Given the description of an element on the screen output the (x, y) to click on. 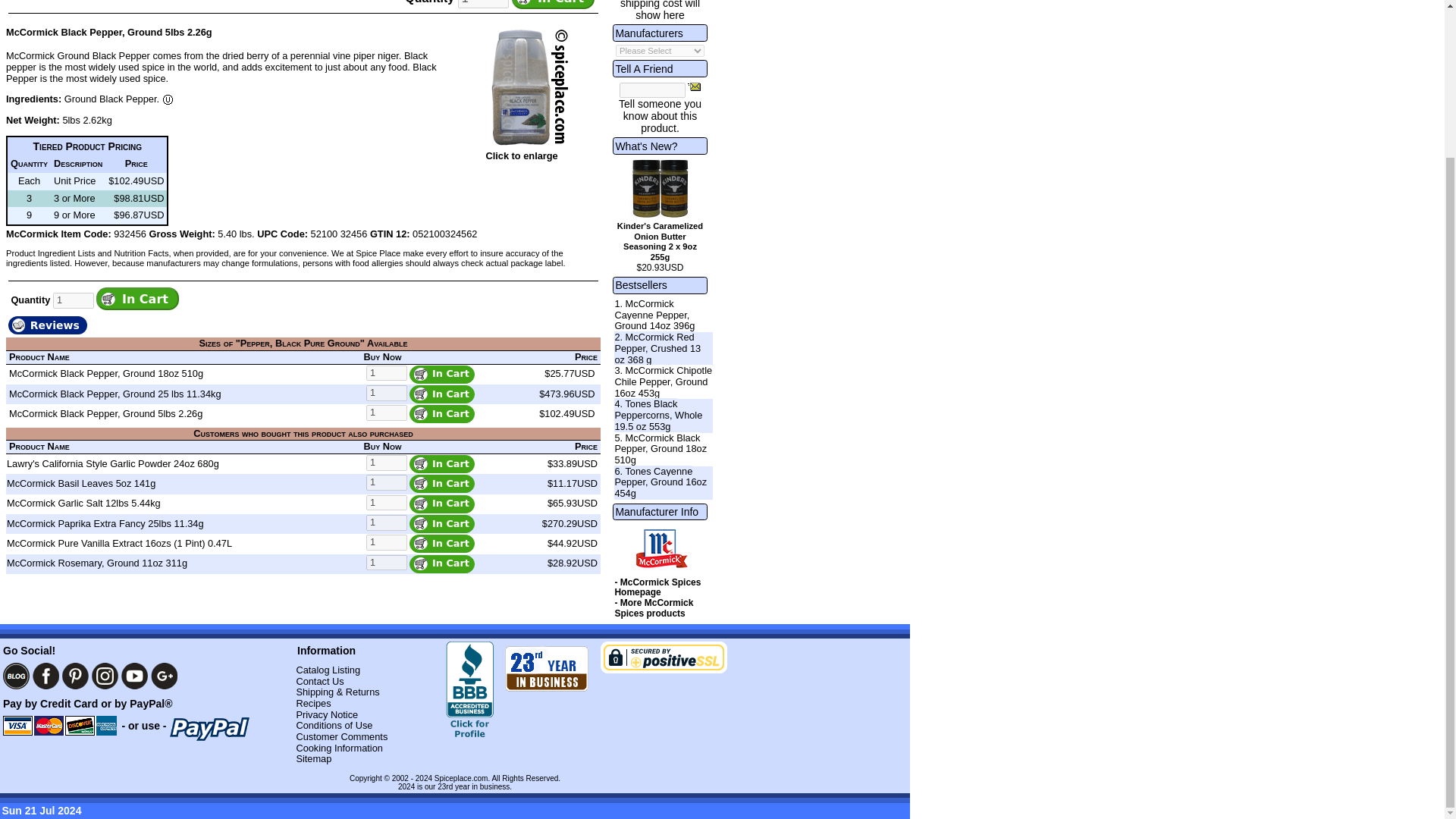
In Cart (441, 524)
In Cart (553, 4)
1 (73, 300)
In Cart (137, 298)
1 (386, 503)
1 (386, 462)
McCormick Black Pepper, Ground 18oz 510g (105, 373)
Click to enlarge (520, 155)
In Cart (441, 504)
1 (386, 392)
In Cart (441, 374)
1 (386, 373)
In Cart (137, 298)
In Cart (441, 393)
1 (483, 3)
